Given the description of an element on the screen output the (x, y) to click on. 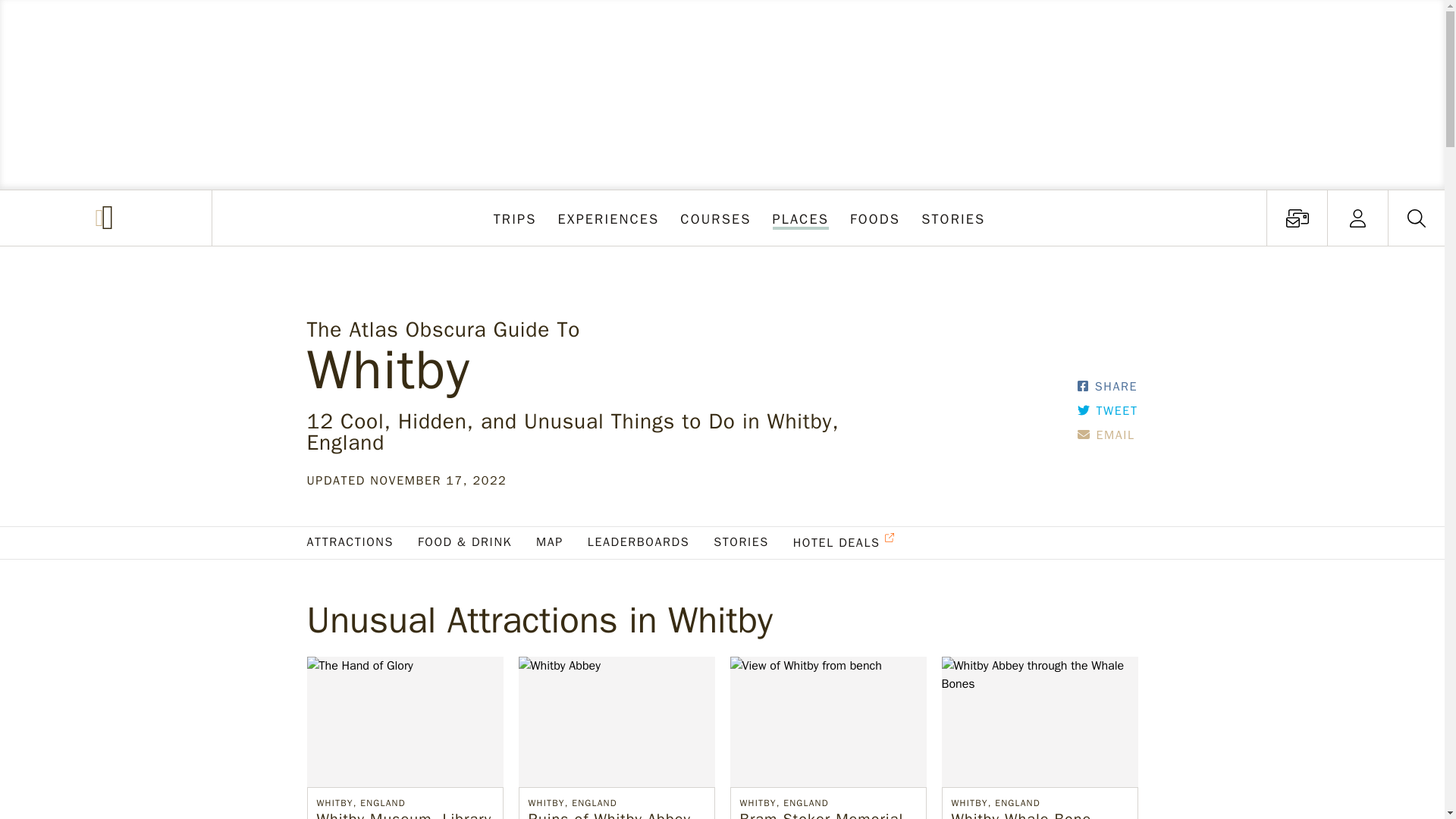
PLACES (799, 217)
FOODS (1296, 217)
COURSES (1356, 217)
TRIPS (874, 217)
View all newsletters (715, 217)
STORIES (515, 217)
Sign In (1297, 217)
EXPERIENCES (953, 217)
